Given the description of an element on the screen output the (x, y) to click on. 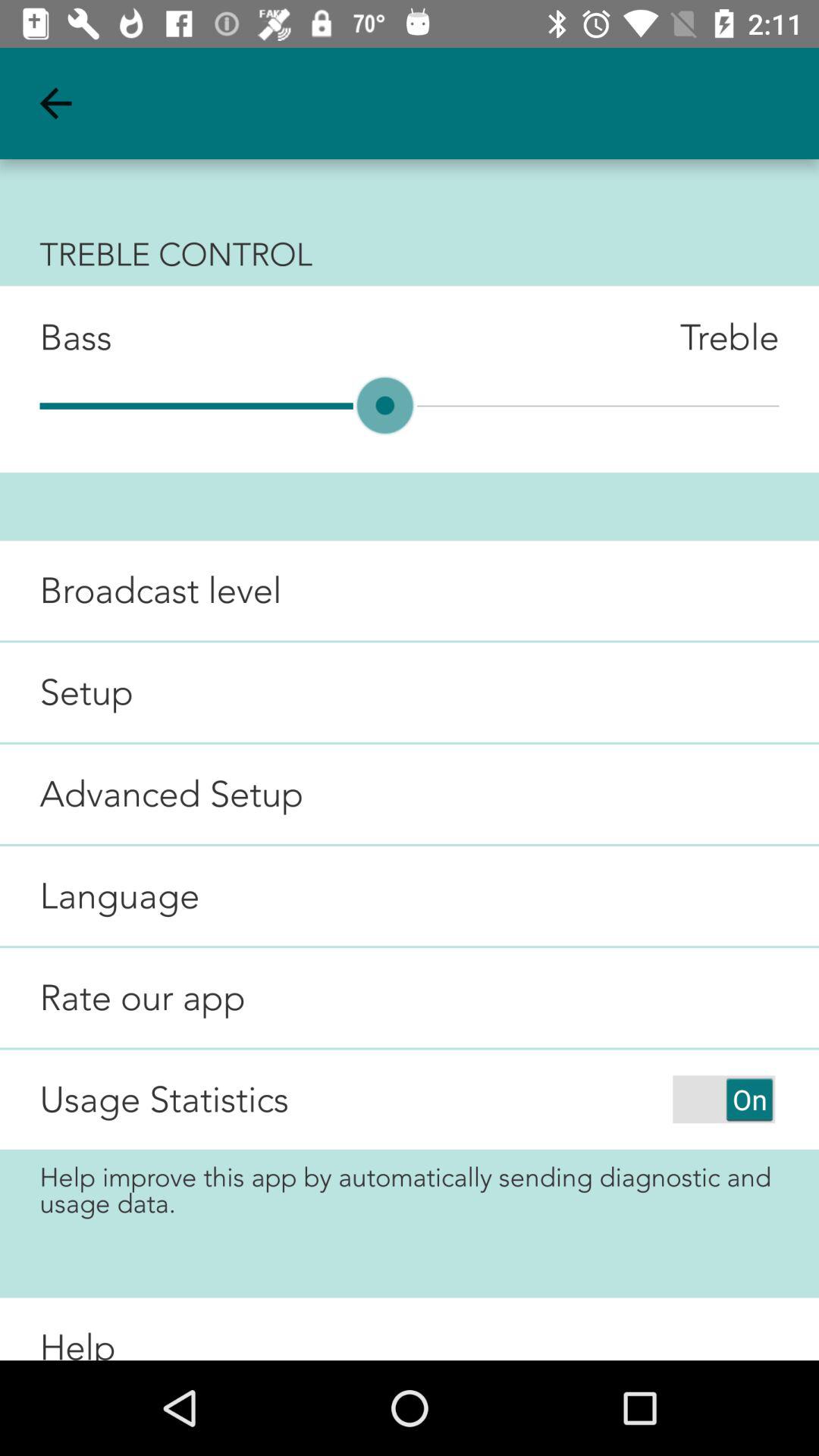
toggle sending data of usage statistics (723, 1099)
